Given the description of an element on the screen output the (x, y) to click on. 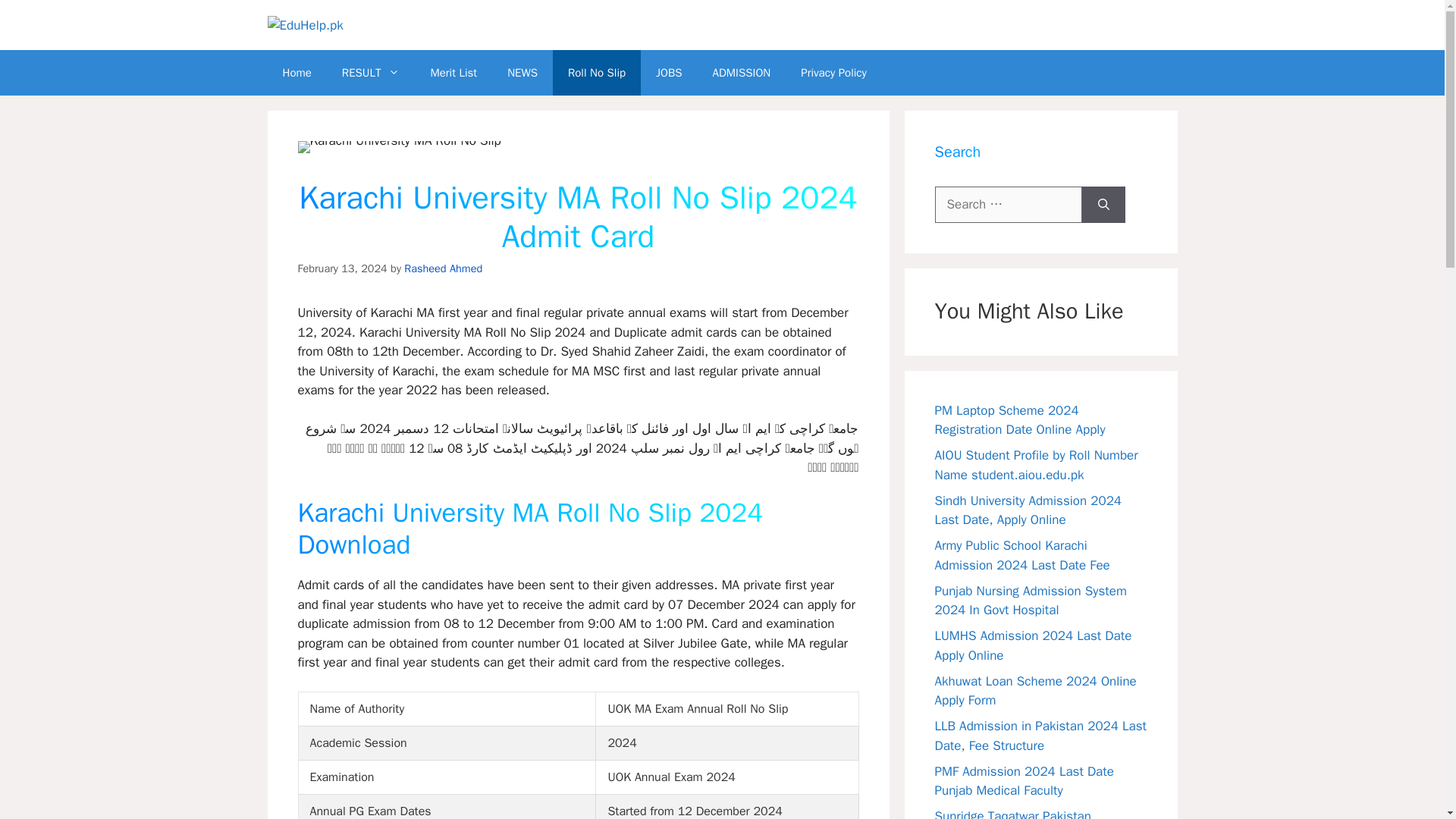
PM Laptop Scheme 2024 Registration Date Online Apply (1019, 420)
Merit List (453, 72)
Search for: (1007, 204)
JOBS (668, 72)
Home (296, 72)
View all posts by Rasheed Ahmed (442, 268)
RESULT (370, 72)
Privacy Policy (834, 72)
Rasheed Ahmed (442, 268)
Roll No Slip (596, 72)
